Given the description of an element on the screen output the (x, y) to click on. 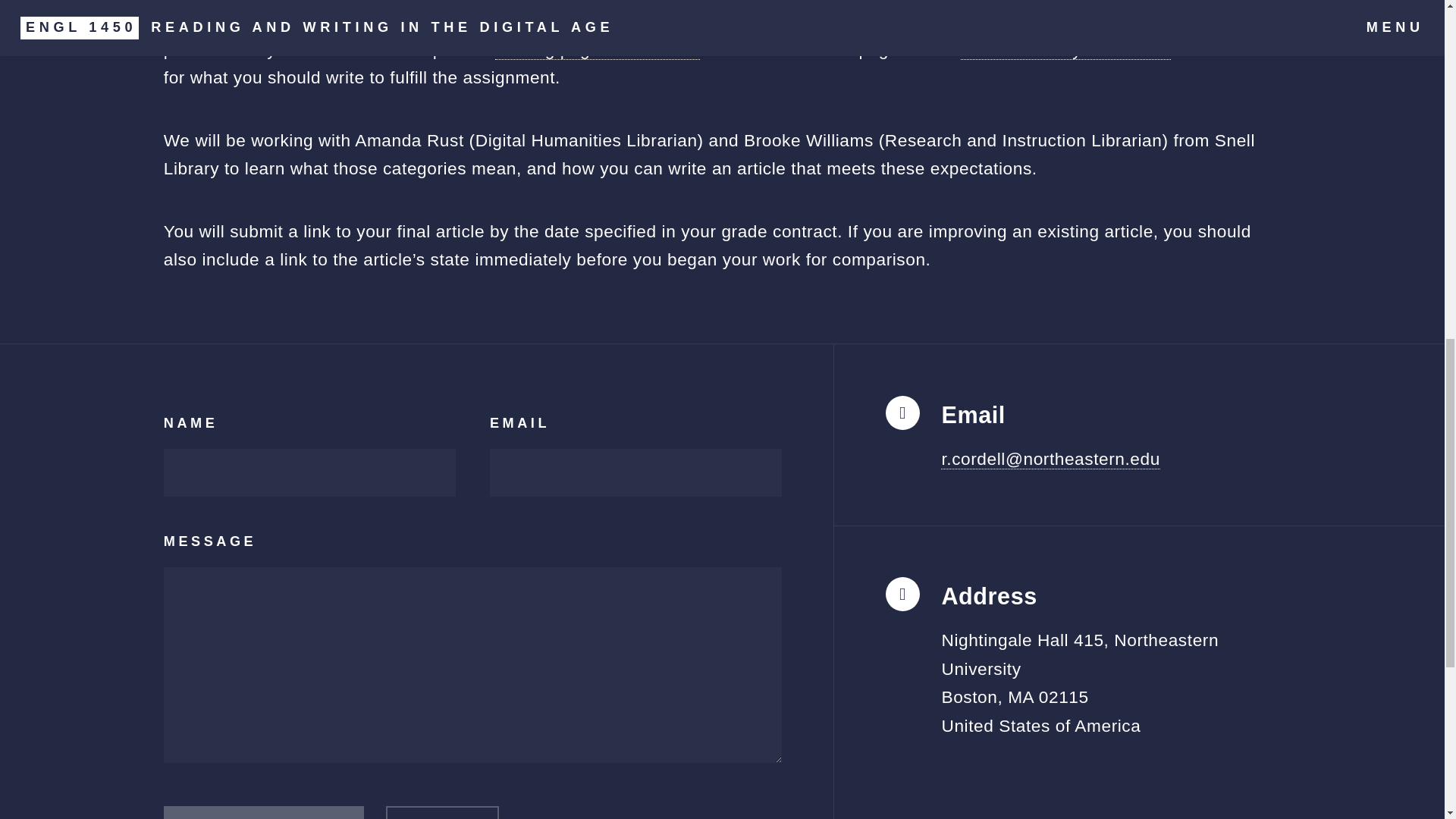
Send Message (263, 812)
Send Message (263, 812)
training page for students (597, 49)
Wikipedia stub (1086, 1)
Boston Society of Vulcans (1065, 49)
Clear (442, 812)
WikiProject Assessment guidelines (985, 20)
